Given the description of an element on the screen output the (x, y) to click on. 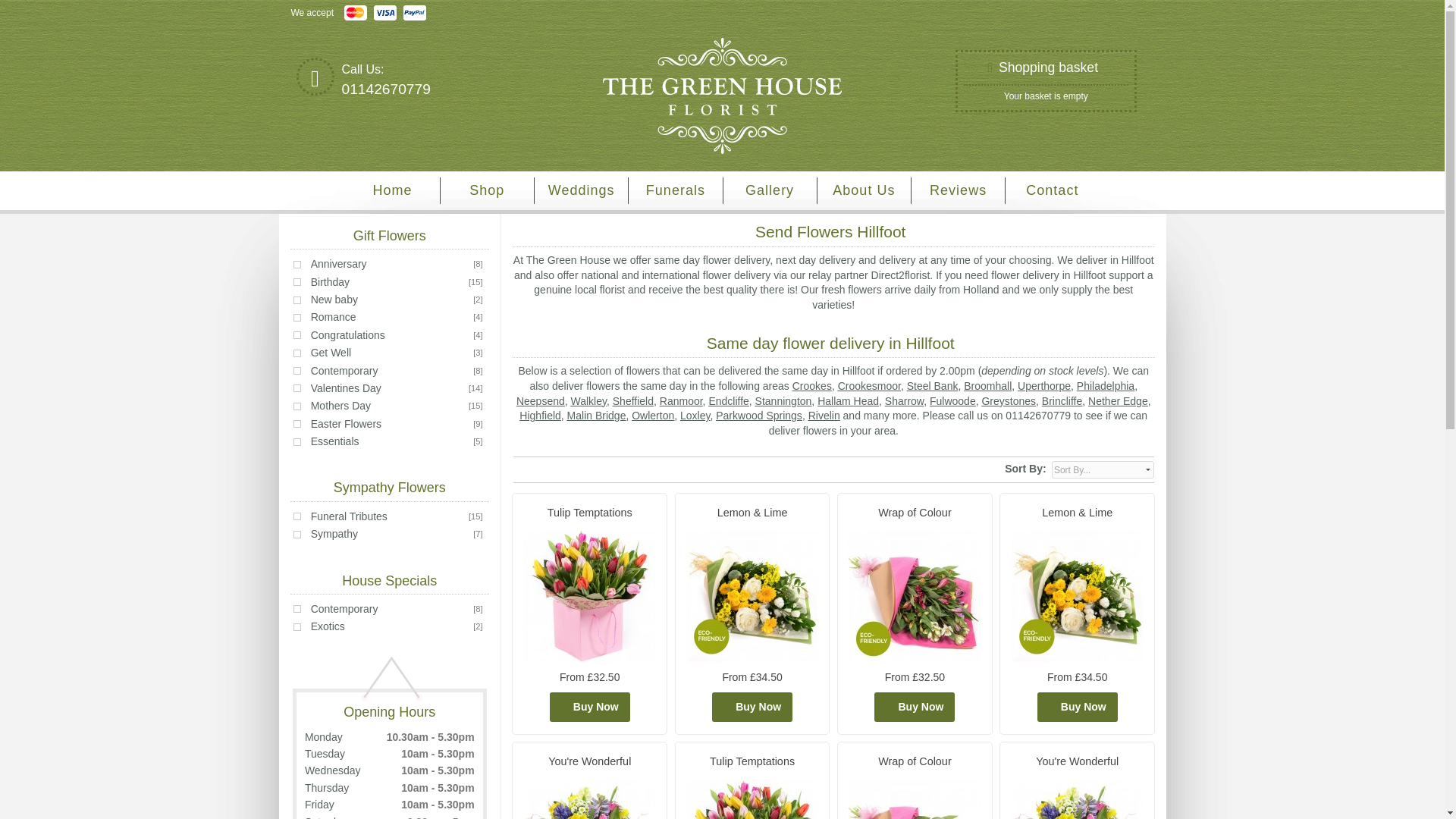
Send Flowers Stannington (783, 400)
Send Flowers Philadelphia (1105, 386)
Funerals (675, 190)
Shop (487, 190)
Gallery (769, 190)
Send Flowers Nether Edge (1117, 400)
Send Flowers Ranmoor (681, 400)
Send Flowers Broomhall (987, 386)
Send Flowers Sharrow (904, 400)
Send Flowers Highfield (539, 415)
Send Flowers Greystones (1008, 400)
About Us (863, 190)
Send Flowers Steel Bank (932, 386)
Send Flowers Crookes (811, 386)
Contact (1052, 190)
